Given the description of an element on the screen output the (x, y) to click on. 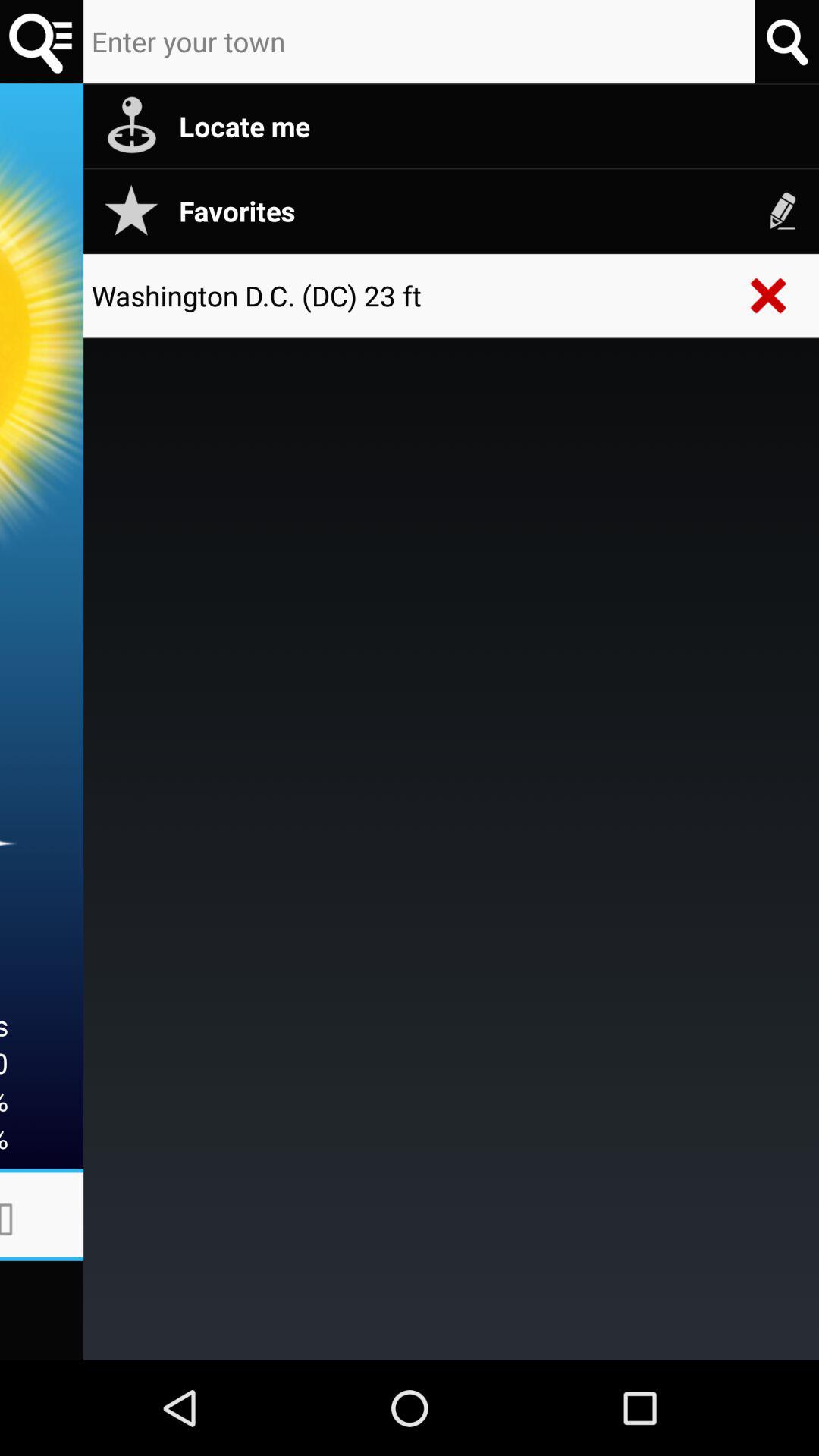
search button option (41, 41)
